Given the description of an element on the screen output the (x, y) to click on. 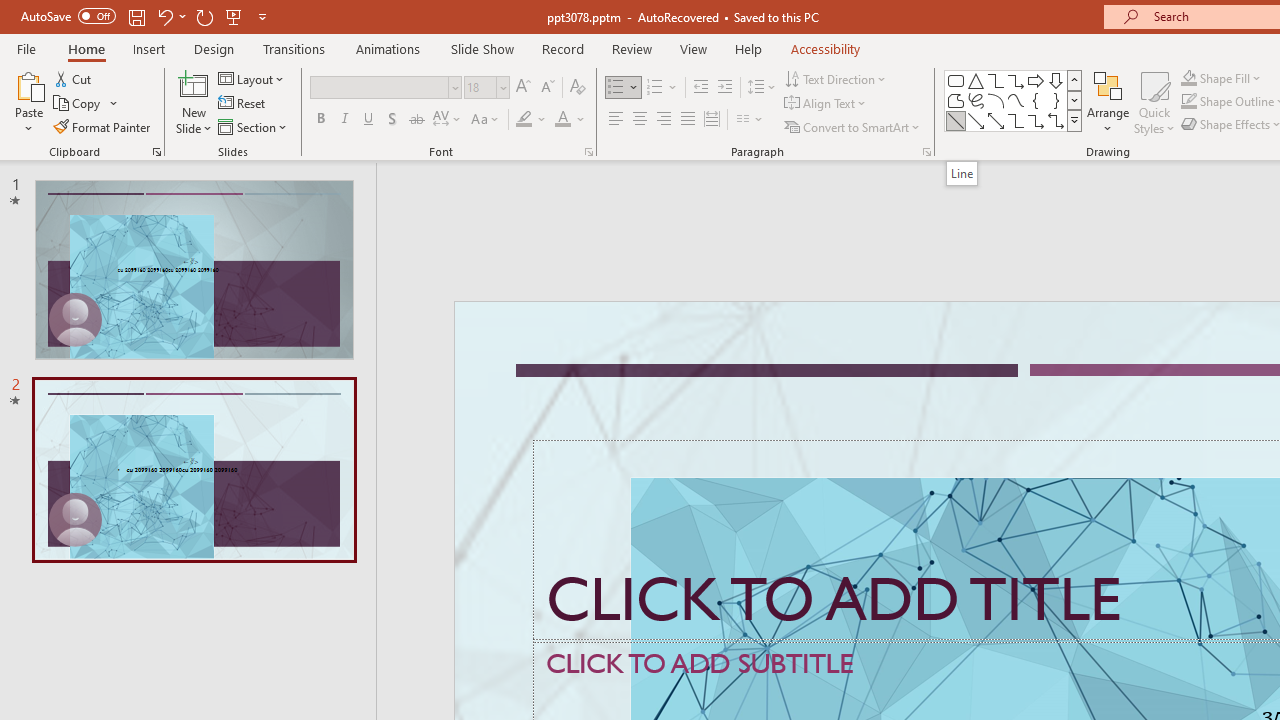
Microsoft security help and learning (181, 613)
Notebook (1083, 202)
Close Dialog (1133, 681)
Views and More Actions... (442, 321)
